Given the description of an element on the screen output the (x, y) to click on. 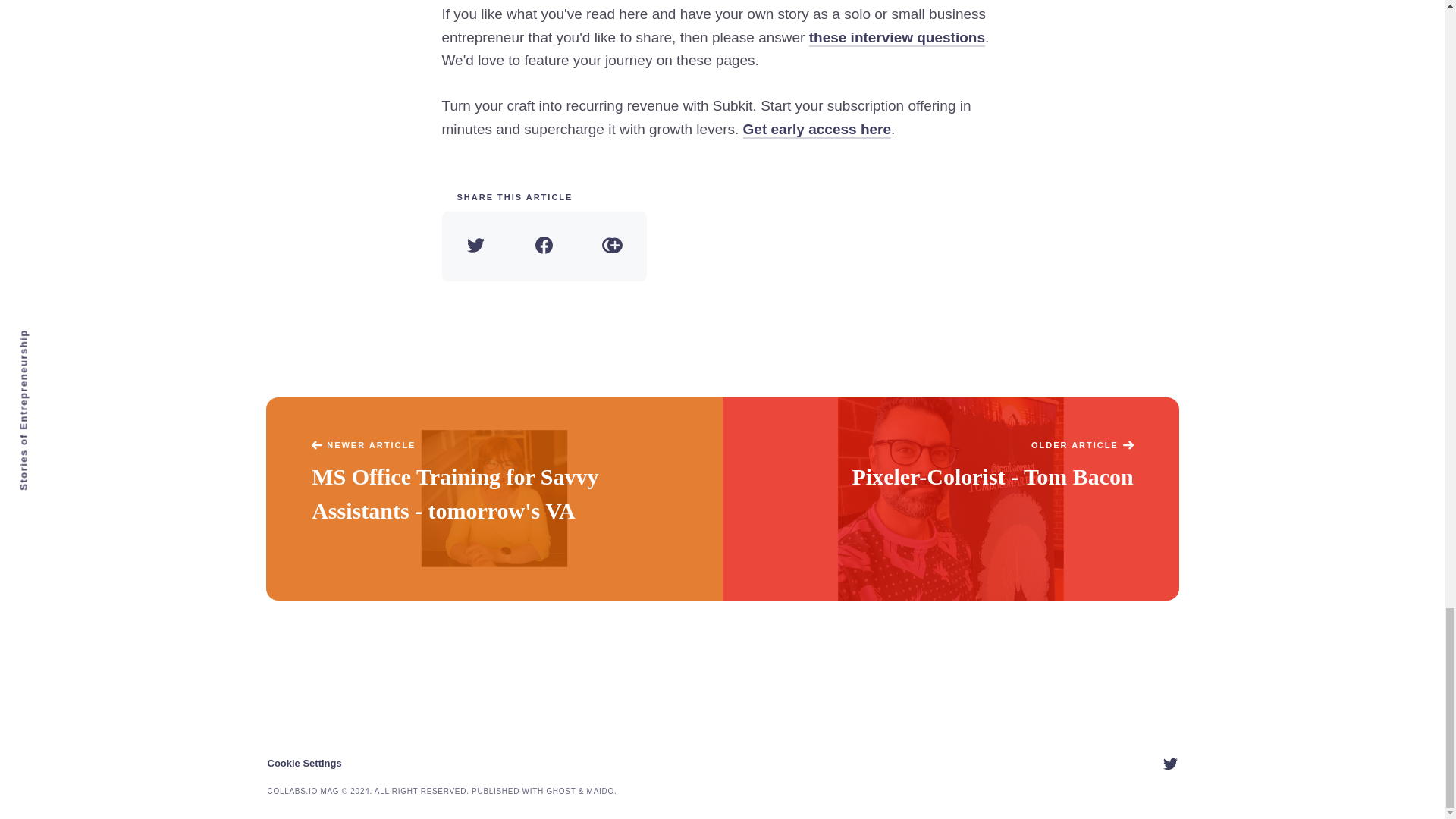
MAIDO (600, 791)
these interview questions (897, 37)
Get early access here (816, 129)
Cookie Settings (303, 763)
COLLABS.IO MAG (302, 791)
GHOST (560, 791)
